Given the description of an element on the screen output the (x, y) to click on. 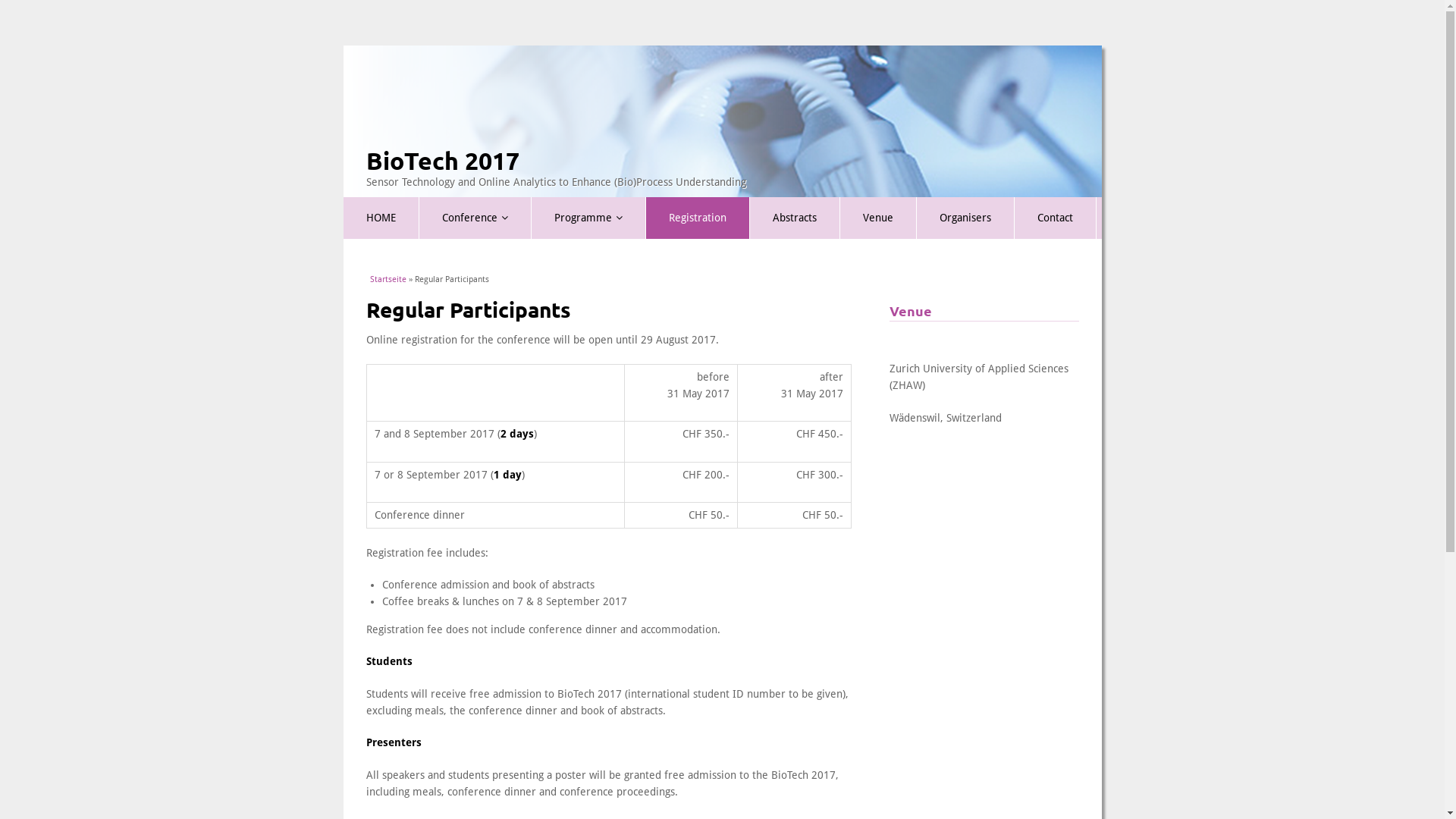
Contact Element type: text (1055, 217)
HOME Element type: text (380, 217)
Venue Element type: text (878, 217)
Abstracts Element type: text (794, 217)
Startseite Element type: text (388, 279)
Programme Element type: text (587, 217)
Registration Element type: text (697, 217)
Conference Element type: text (474, 217)
Organisers Element type: text (964, 217)
BioTech 2017 Element type: text (441, 160)
